Given the description of an element on the screen output the (x, y) to click on. 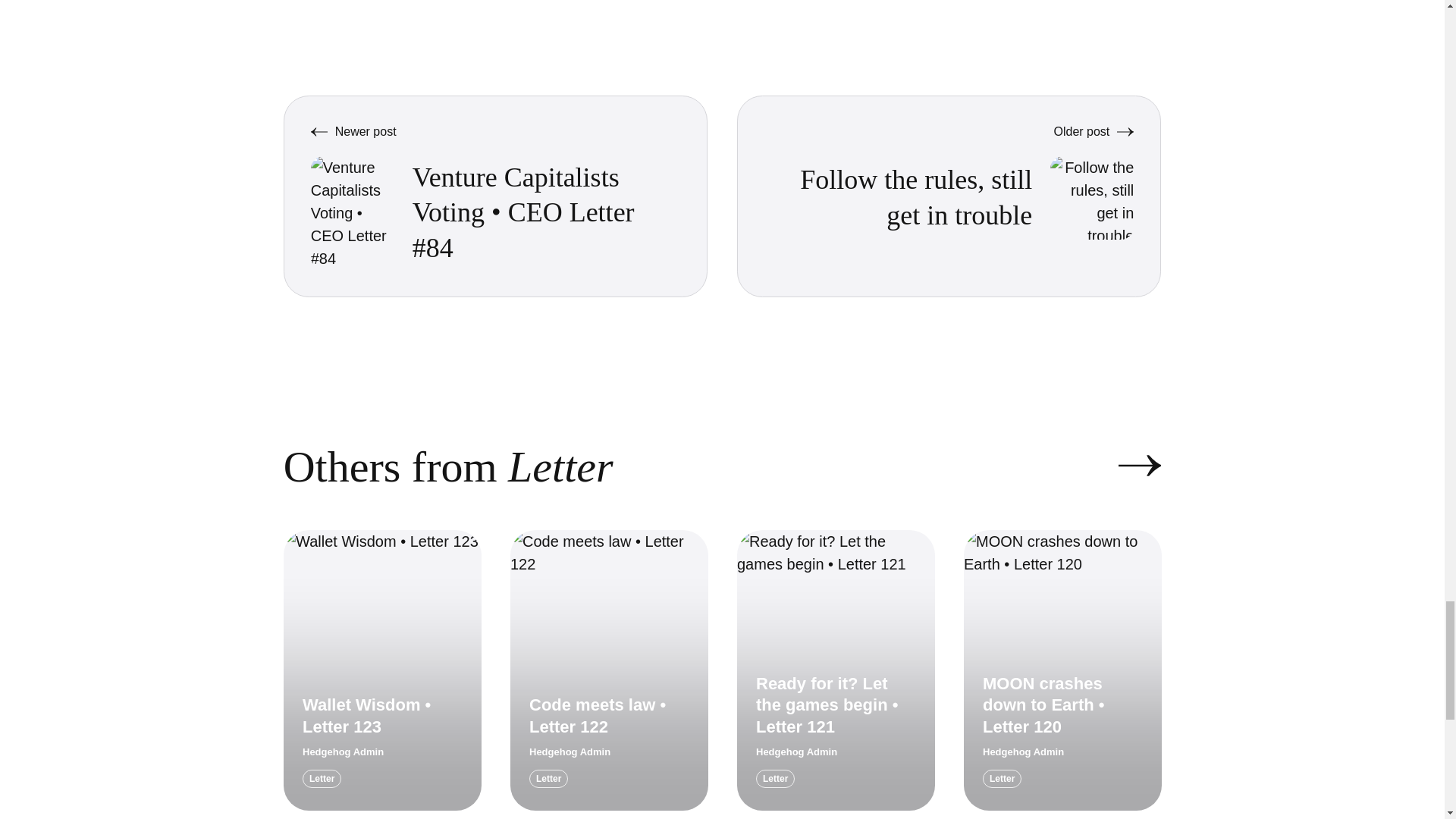
Hedgehog Admin (569, 752)
Letter (548, 778)
Hedgehog Admin (796, 752)
Follow the rules, still get in trouble (915, 197)
Letter (321, 778)
Hedgehog Admin (343, 752)
